Given the description of an element on the screen output the (x, y) to click on. 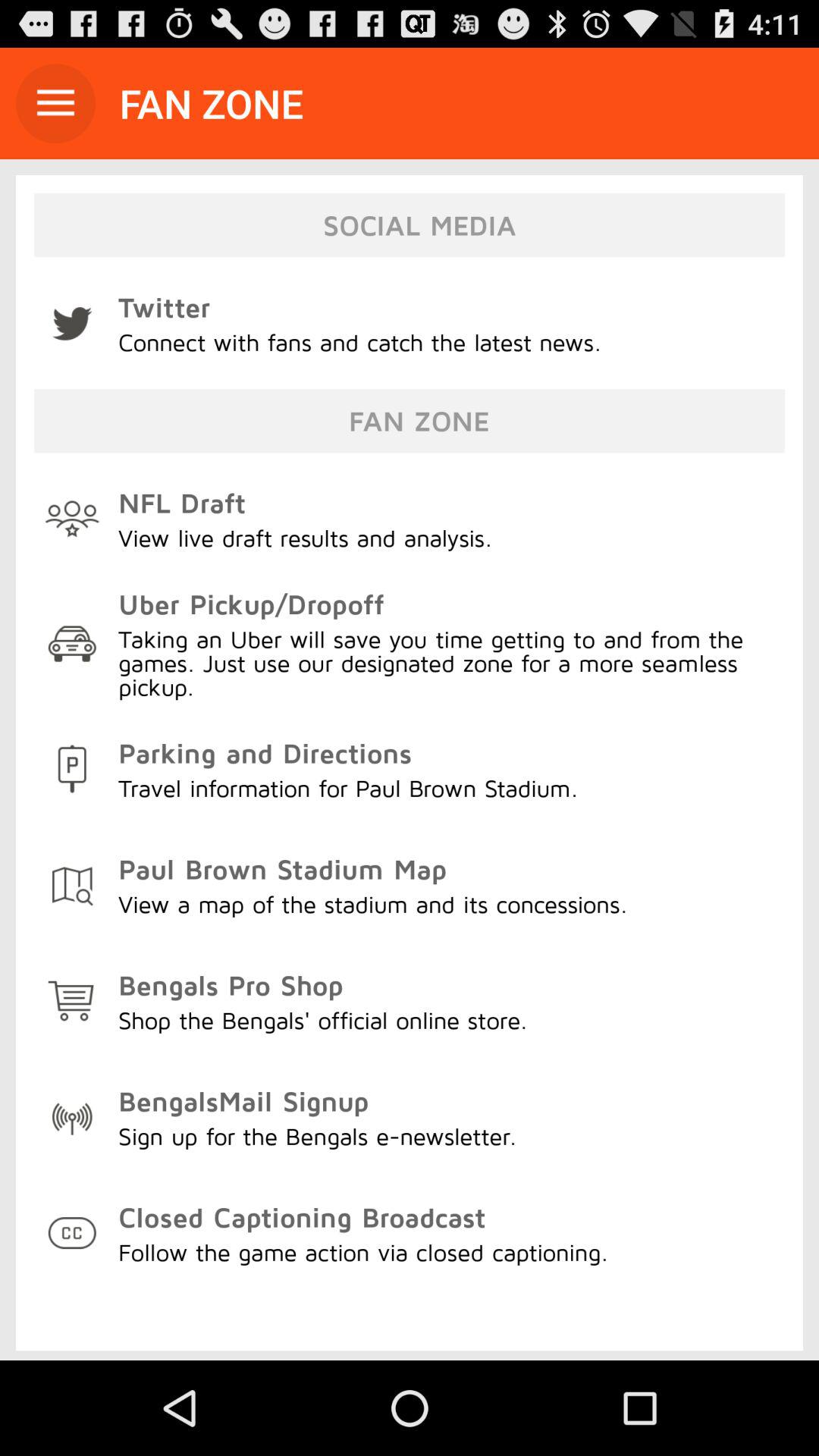
press to open menu (55, 103)
